Given the description of an element on the screen output the (x, y) to click on. 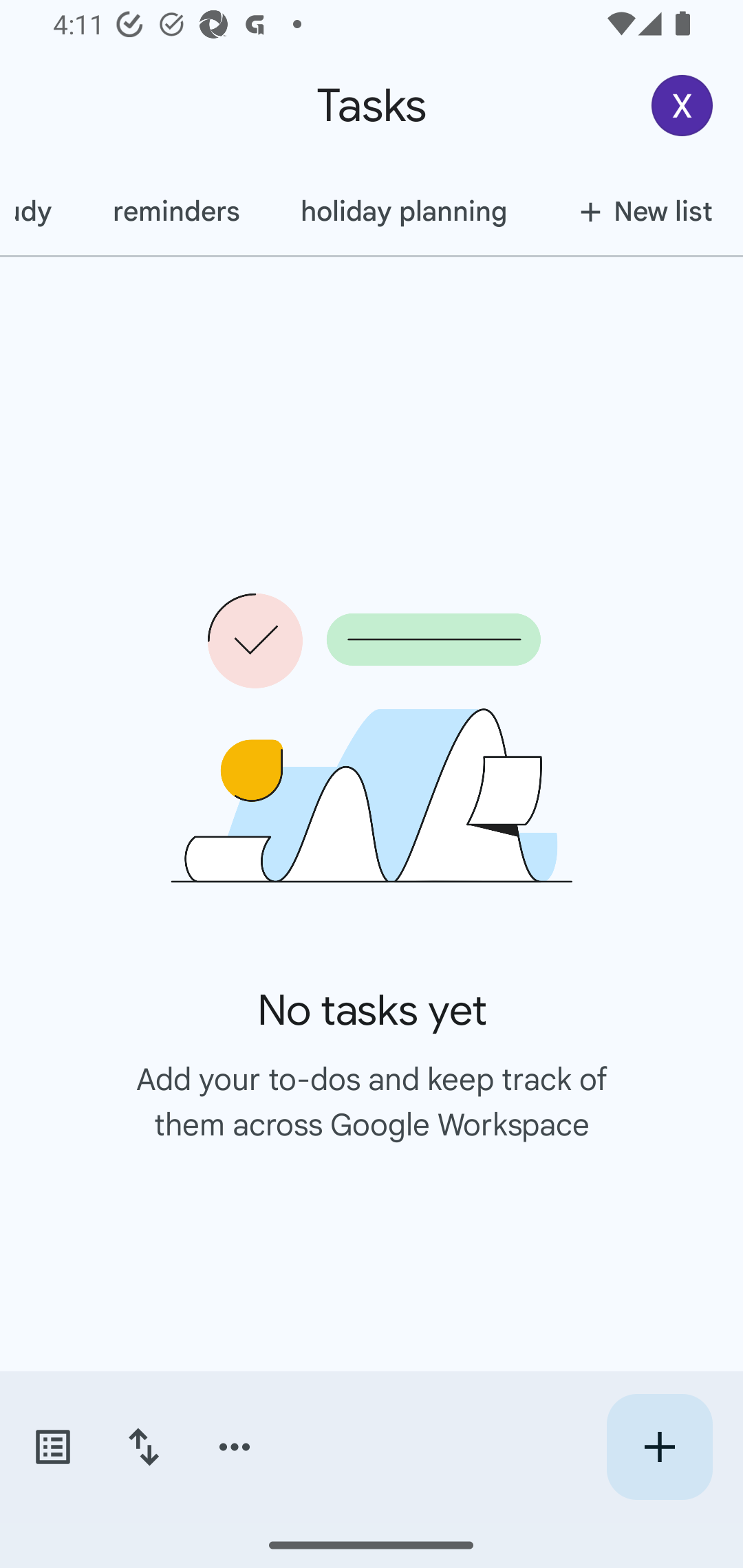
Study (40, 211)
reminders (175, 211)
holiday planning (403, 211)
New list (640, 211)
Switch task lists (52, 1447)
Create new task (659, 1446)
Change sort order (143, 1446)
More options (234, 1446)
